Given the description of an element on the screen output the (x, y) to click on. 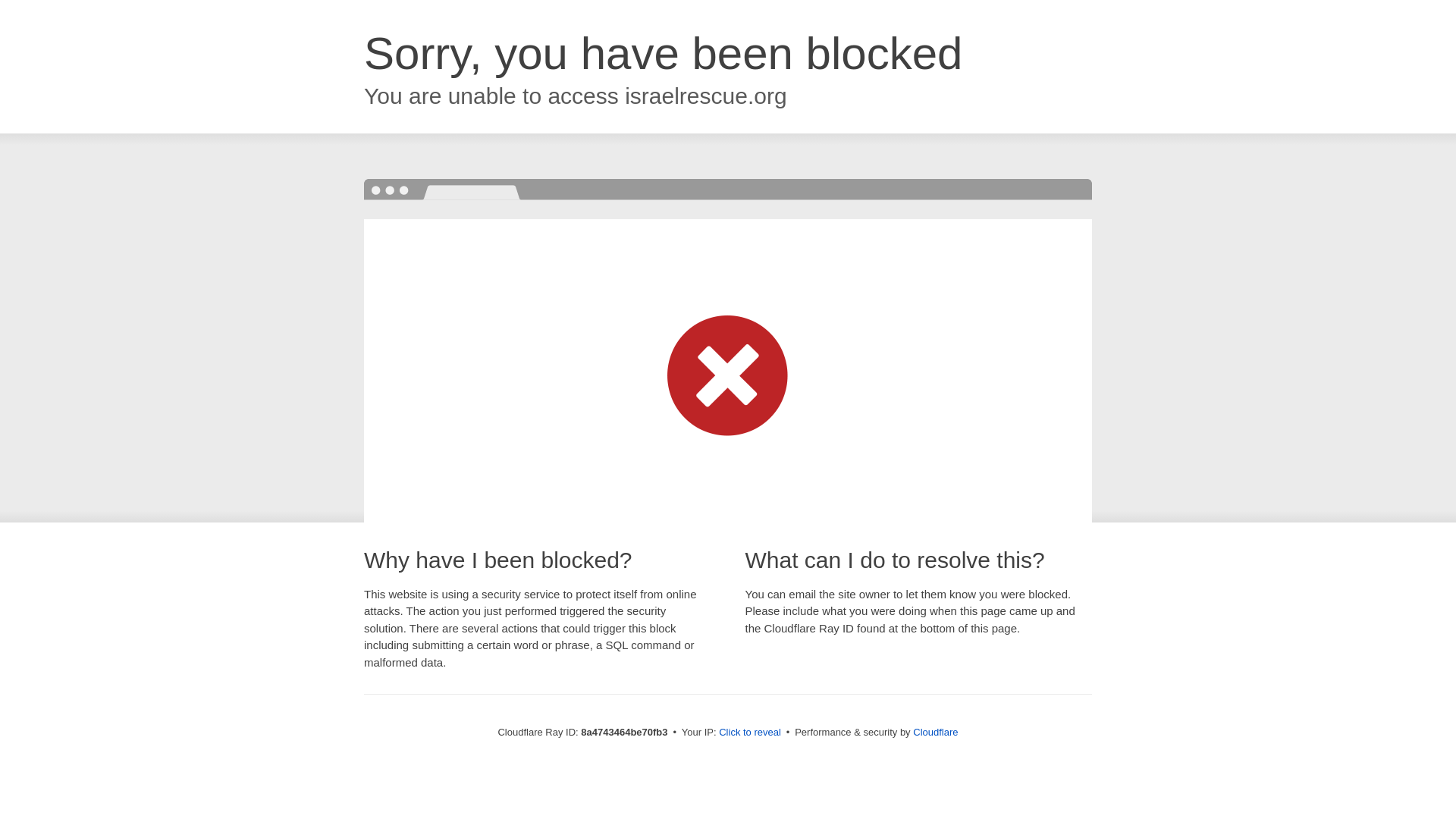
Cloudflare (935, 731)
Click to reveal (749, 732)
